Given the description of an element on the screen output the (x, y) to click on. 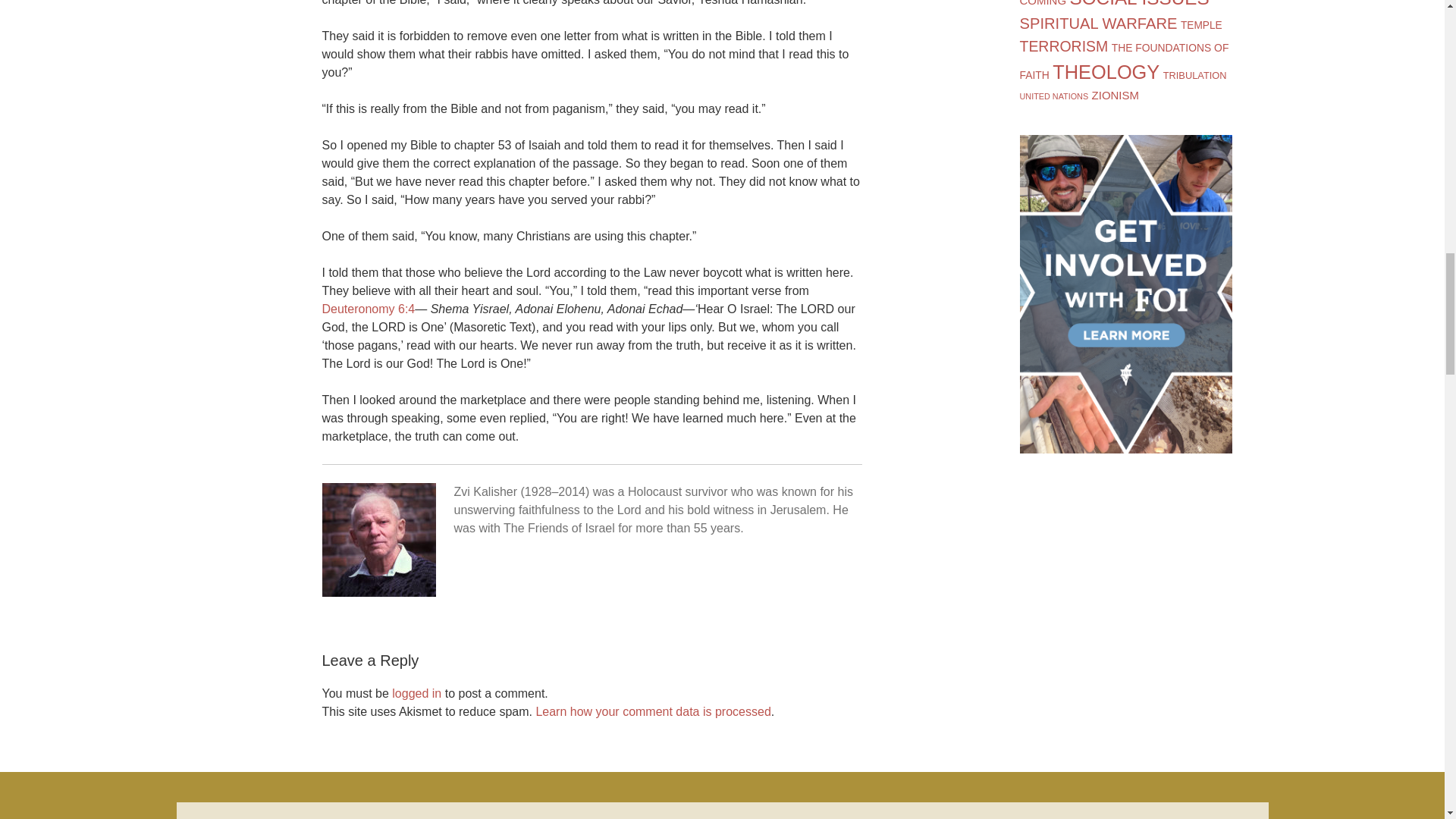
Deuteronomy 6:4 (367, 308)
